Given the description of an element on the screen output the (x, y) to click on. 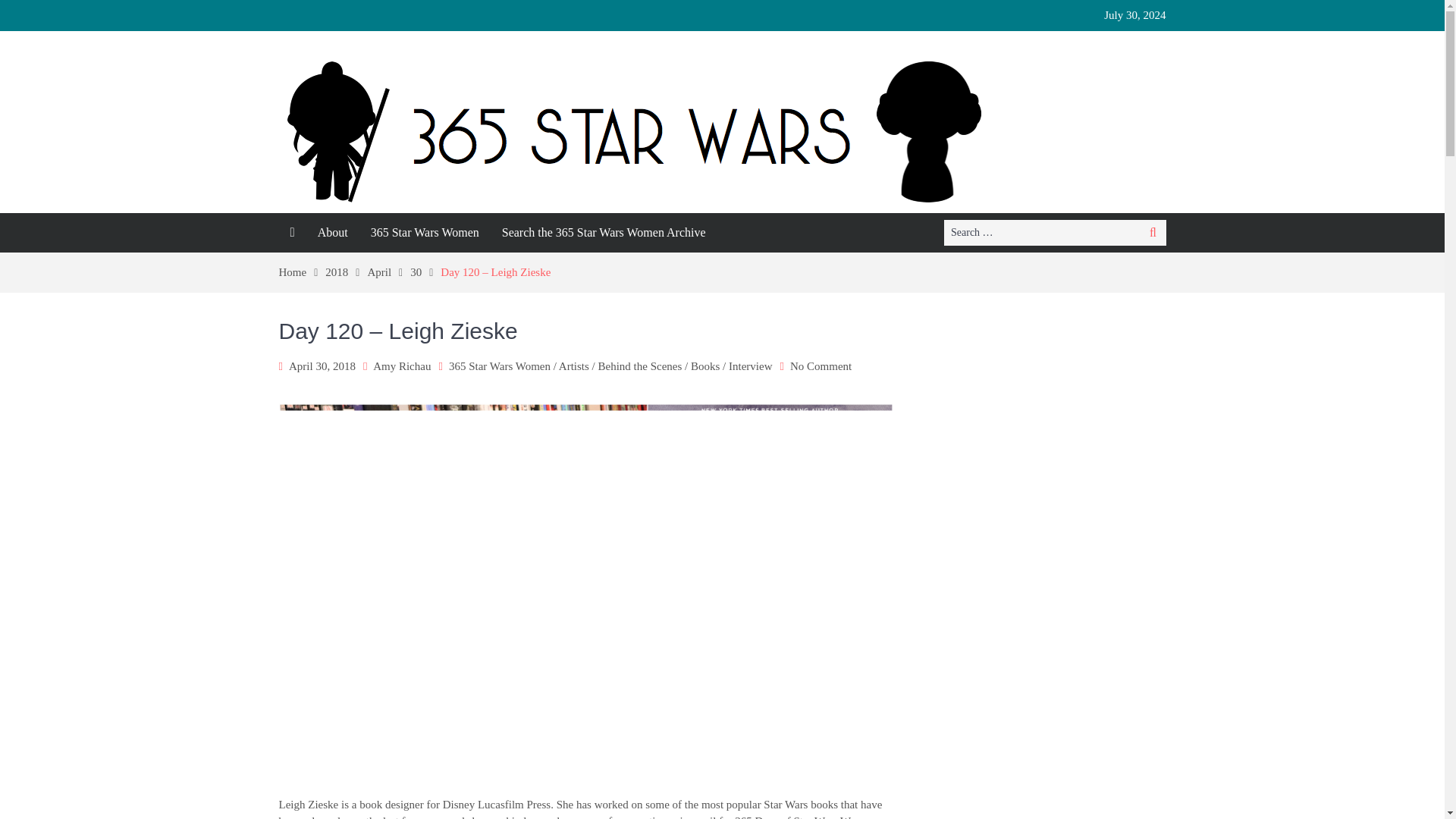
About (332, 232)
Books (704, 366)
365 Star Wars Women (424, 232)
Home (302, 272)
Interview (750, 366)
365 Star Wars Women (499, 366)
April (388, 272)
Search (1153, 232)
Search the 365 Star Wars Women Archive (603, 232)
30 (425, 272)
Amy Richau (401, 366)
Behind the Scenes (640, 366)
2018 (345, 272)
Artists (574, 366)
April 30, 2018 (321, 366)
